Given the description of an element on the screen output the (x, y) to click on. 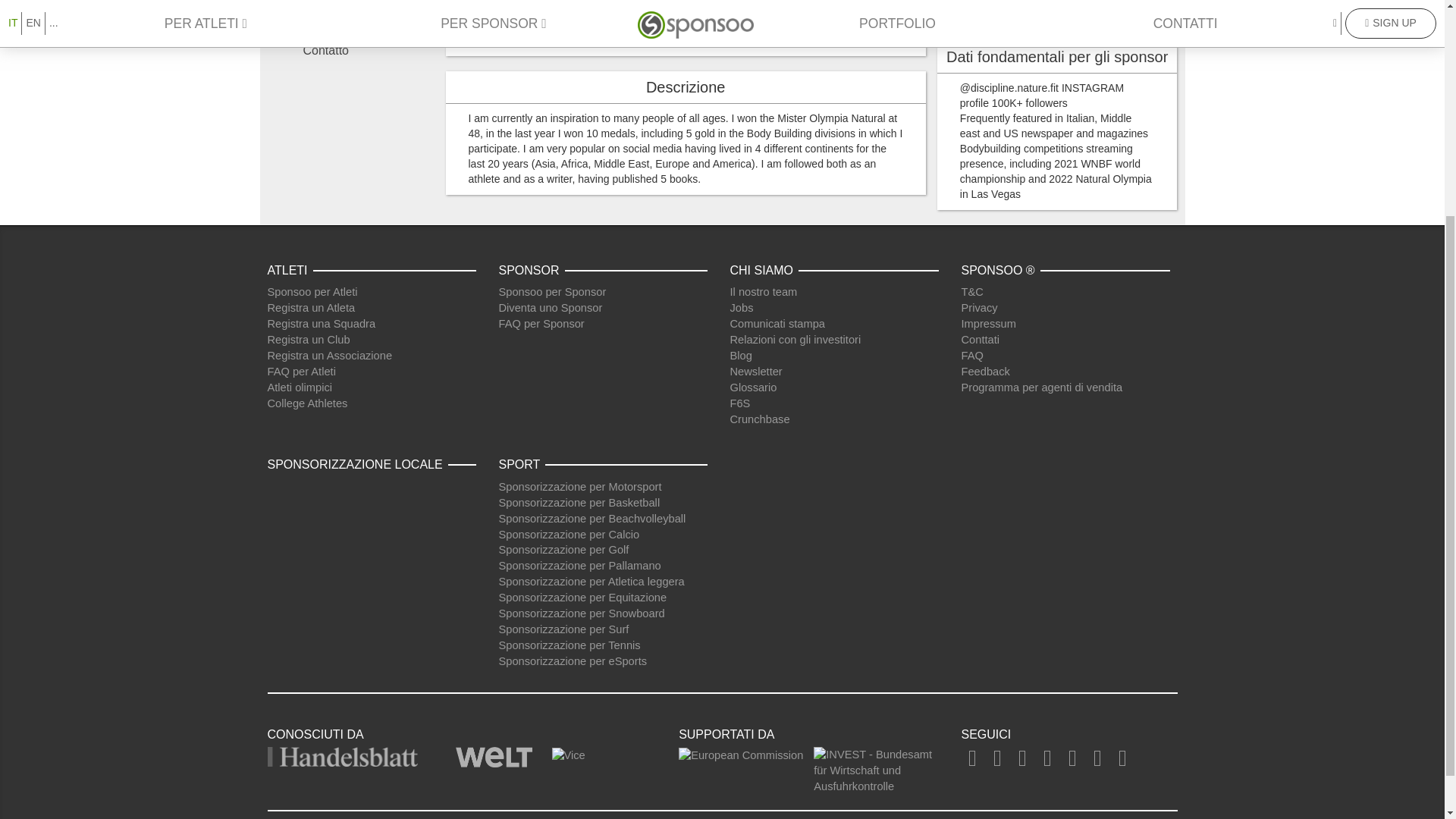
Sponsoo Blog (740, 355)
Registra un Associazione (328, 355)
FAQ per Atleti (300, 371)
Registra una Squadra (320, 323)
Contatto (354, 50)
Registra un Atleta (310, 307)
ATLETI (289, 269)
Sponsoo per Atleti (311, 291)
Registra un Club (307, 339)
Fotografie (354, 25)
Descrizione (354, 6)
